Given the description of an element on the screen output the (x, y) to click on. 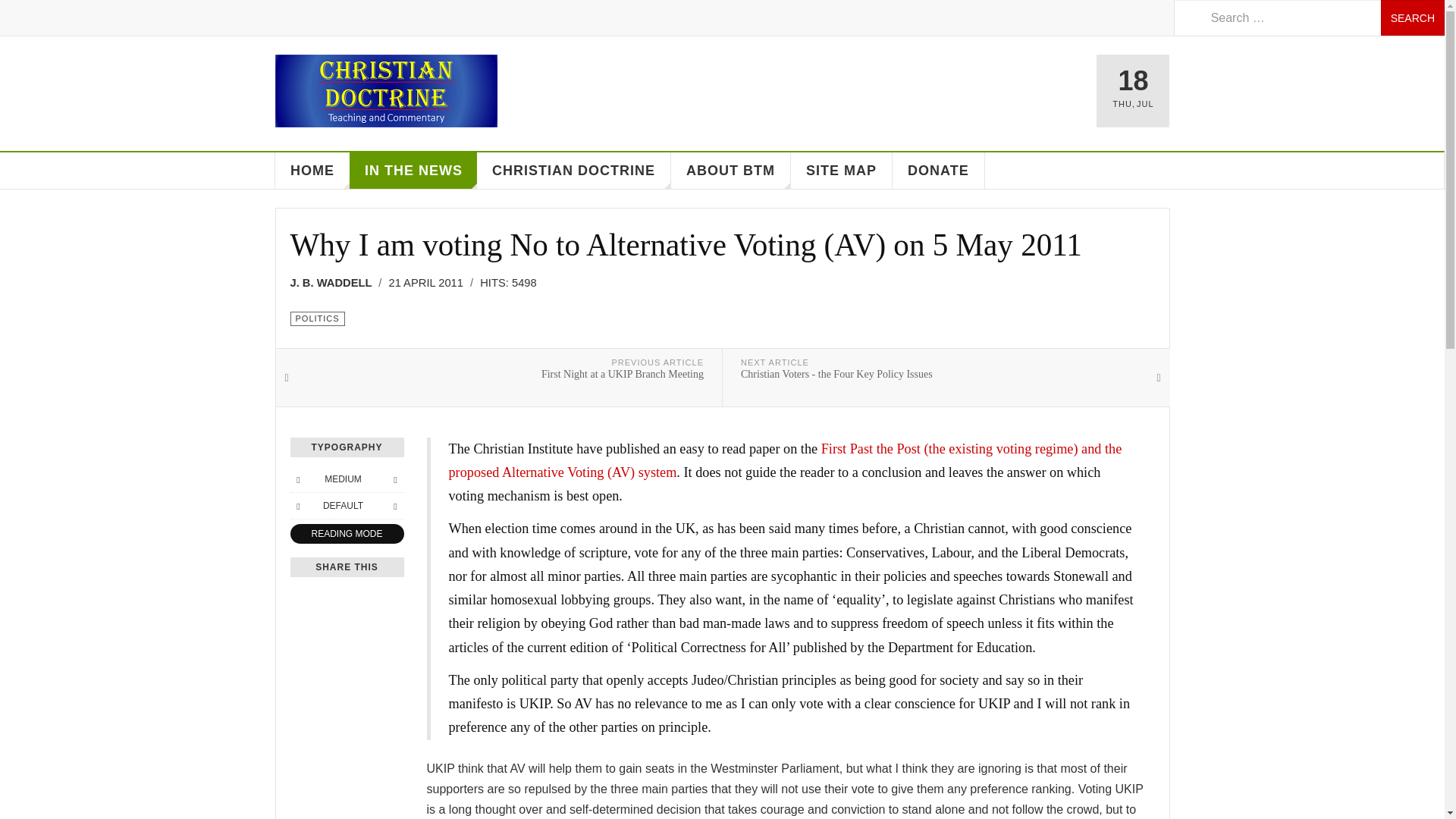
Smaller Font (297, 478)
Reading Mode (346, 534)
Christian Doctrine from Bible Theology Ministries UK (385, 90)
Written by:  (335, 282)
Category:  (316, 318)
Bigger Font (395, 478)
Alternative Vote (785, 460)
Previous Font Style (297, 505)
Next Font Style (395, 505)
Published:  (430, 282)
